Given the description of an element on the screen output the (x, y) to click on. 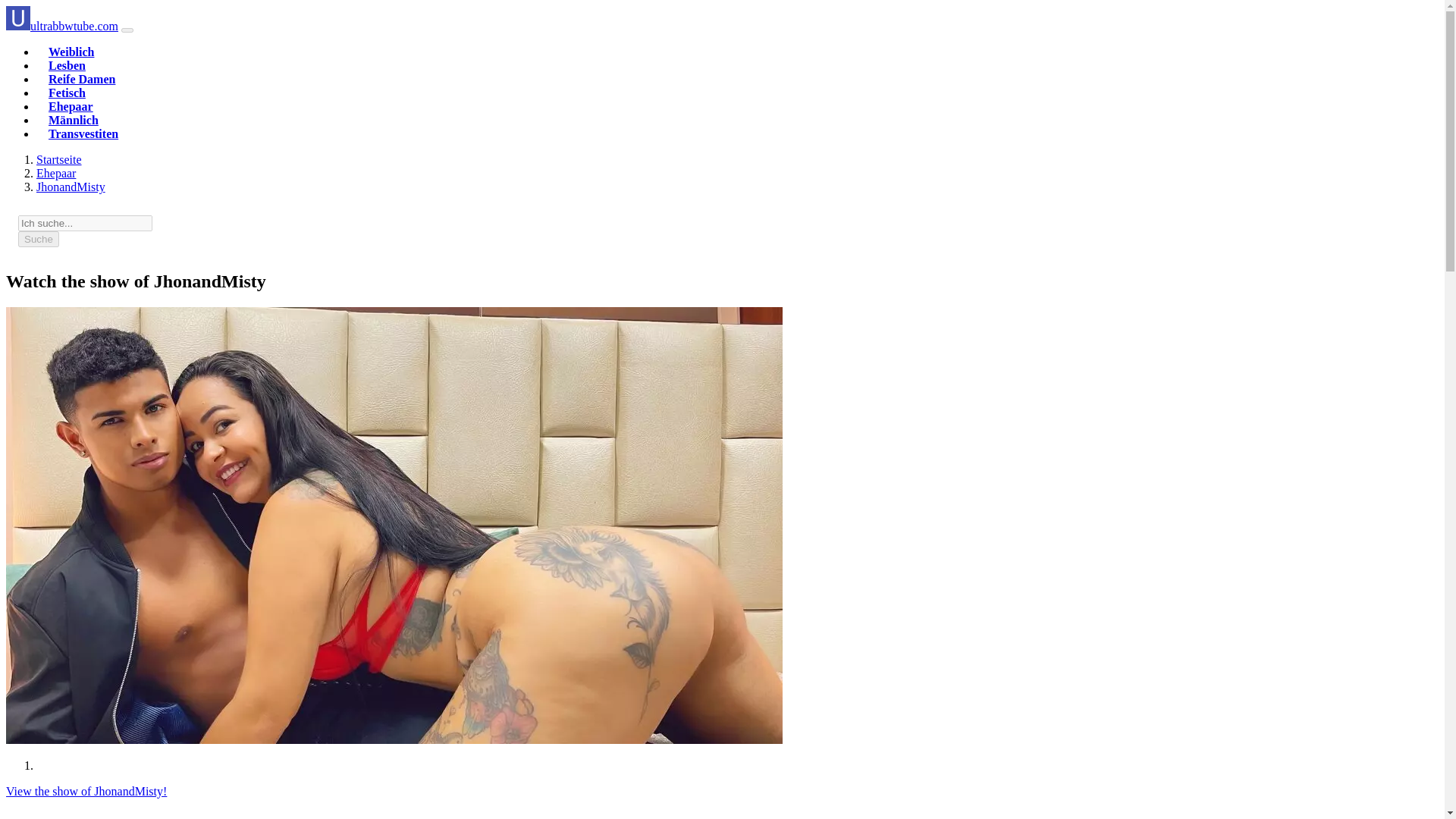
View the show of JhonandMisty! (86, 790)
Ehepaar (70, 106)
Lesben (66, 65)
Weiblich (71, 51)
Transvestiten (82, 133)
Ehepaar (55, 173)
Fetisch (66, 92)
ultrabbwtube.com (61, 25)
View the show of JhonandMisty! (86, 790)
ultrabbwtube.com (58, 159)
